Given the description of an element on the screen output the (x, y) to click on. 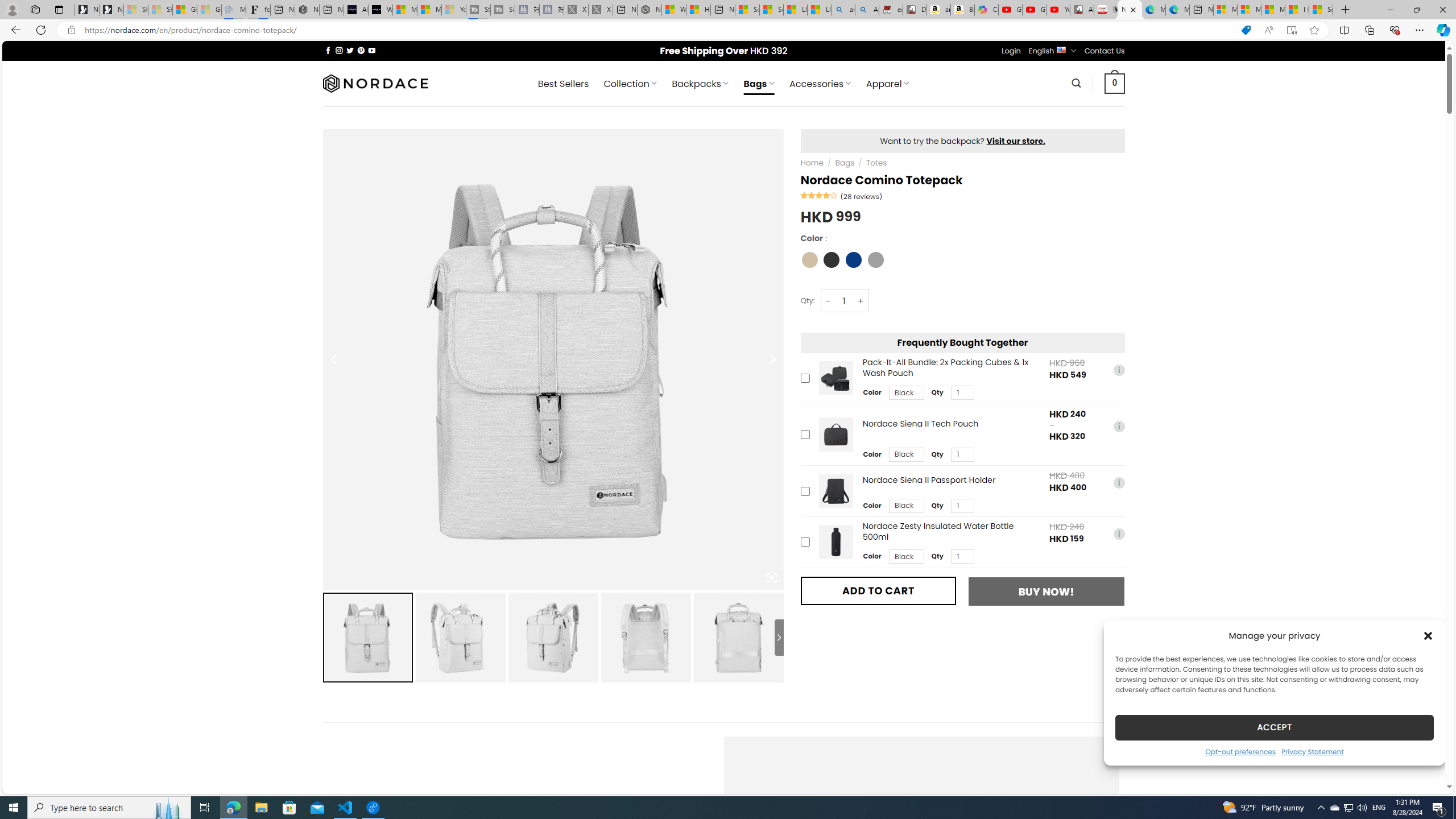
Nordace Comino Totepack (738, 637)
Follow on Pinterest (360, 49)
Class: upsell-v2-product-upsell-variable-product-qty-select (962, 556)
+ (861, 300)
English (1061, 49)
Nordace Siena II Passport Holder (835, 490)
X - Sleeping (600, 9)
